Given the description of an element on the screen output the (x, y) to click on. 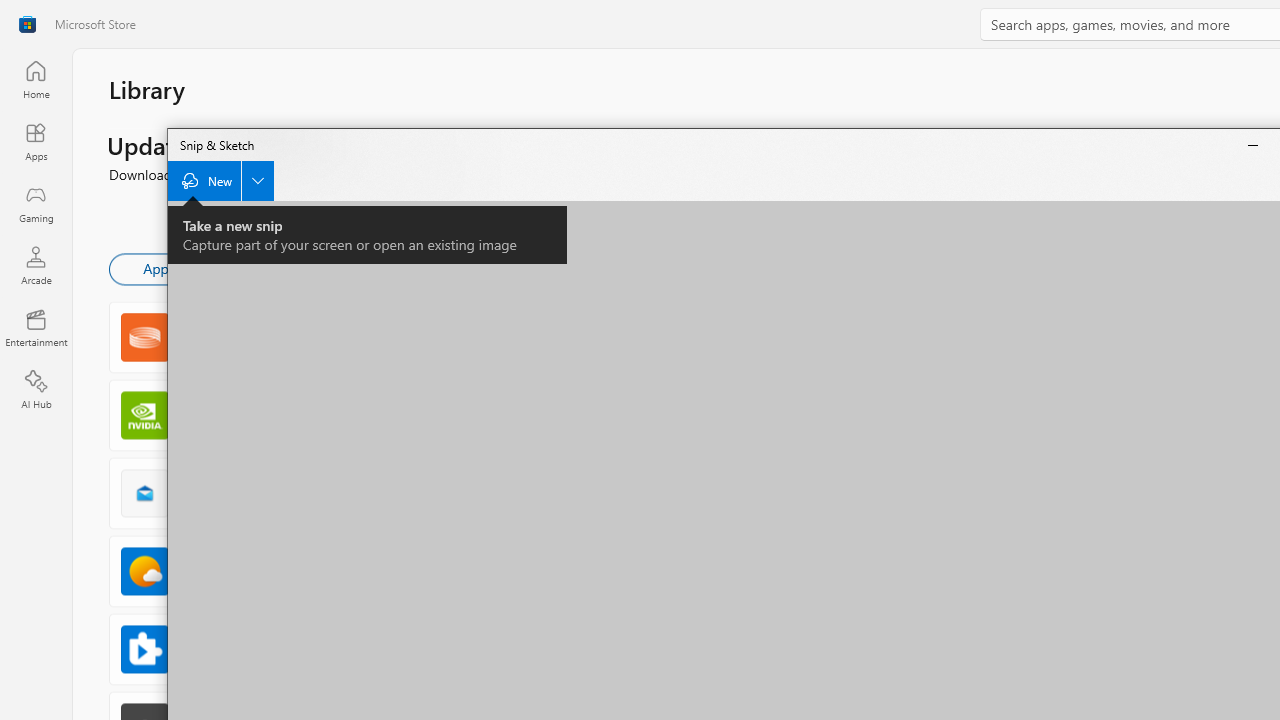
Arcade (35, 265)
Class: Image (27, 24)
Apps (35, 141)
Minimize Snip & Sketch (1253, 144)
AI Hub (35, 390)
Home (35, 79)
Entertainment (35, 327)
Gaming (35, 203)
New Snip (220, 180)
